Given the description of an element on the screen output the (x, y) to click on. 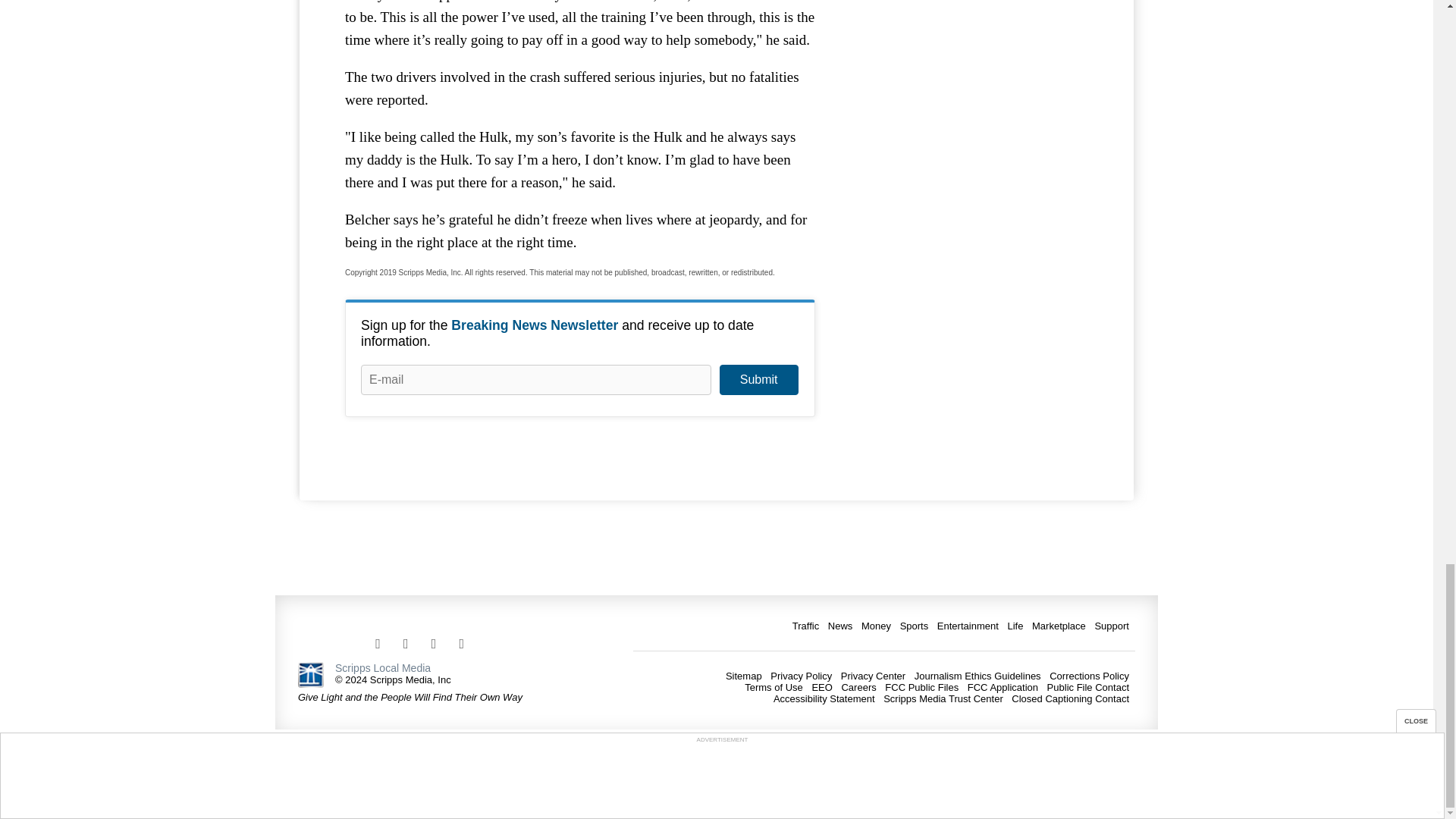
Submit (758, 379)
